Given the description of an element on the screen output the (x, y) to click on. 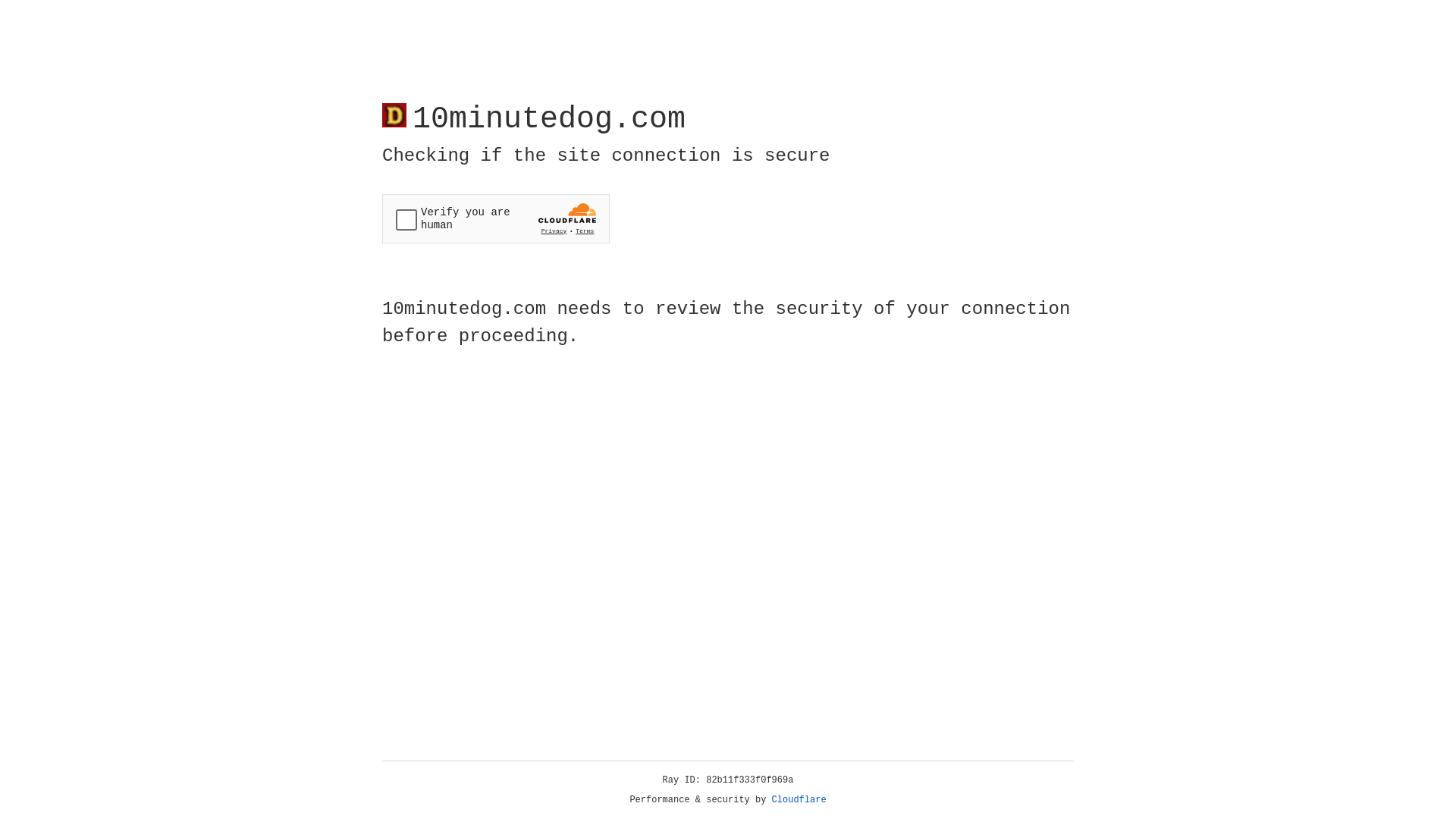
Widget containing a Cloudflare security challenge Element type: hover (495, 218)
Cloudflare Element type: text (798, 799)
